Given the description of an element on the screen output the (x, y) to click on. 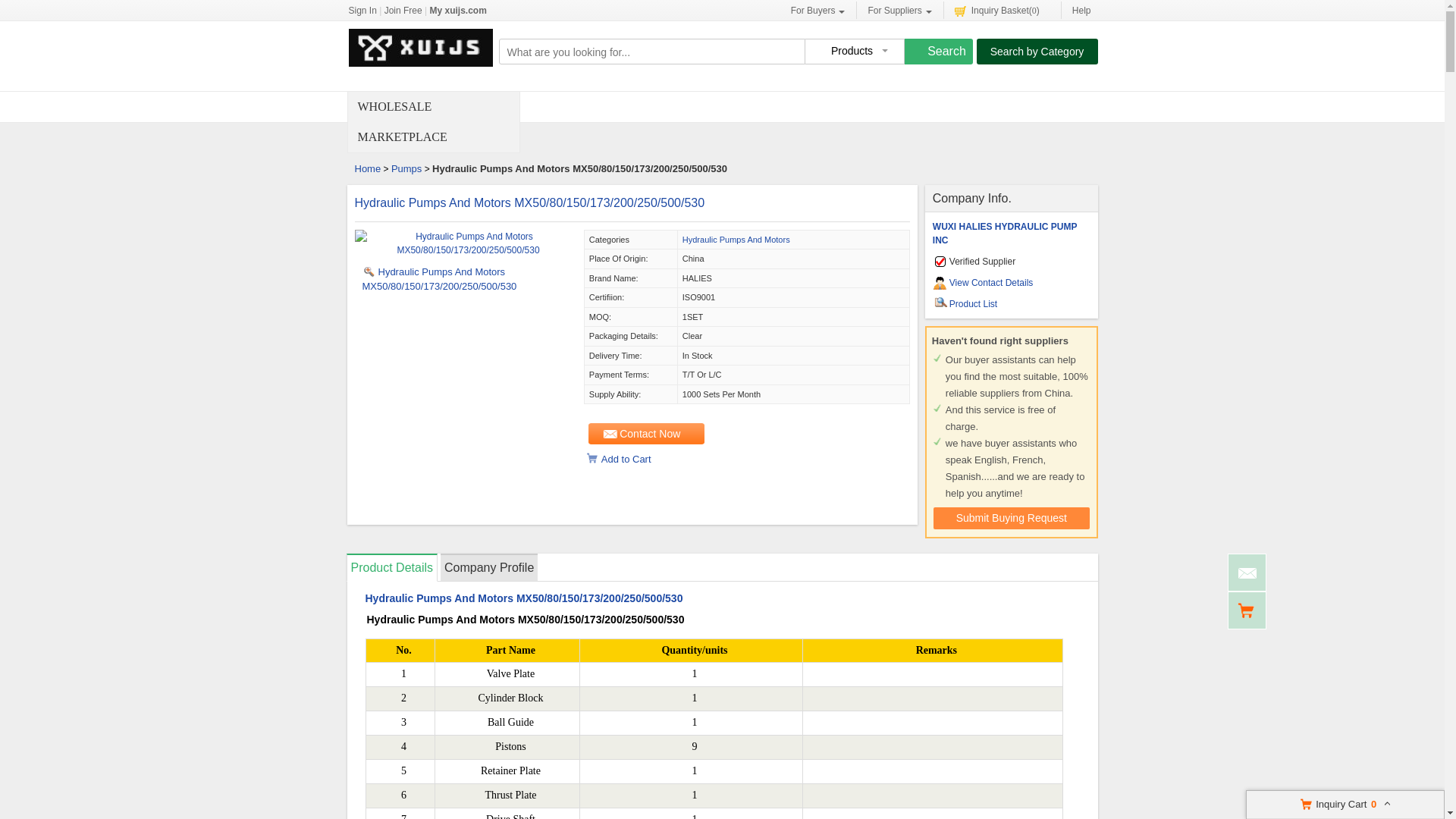
Hydraulic Pumps And Motors (736, 239)
WUXI HALIES HYDRAULIC PUMP INC (1005, 233)
View Contact Details (991, 282)
Pumps (406, 169)
Submit buy request to China factory (1011, 517)
Help (1078, 9)
For Buyers (818, 9)
My xuijs.com (457, 11)
For Suppliers (899, 9)
Product List (973, 303)
